Given the description of an element on the screen output the (x, y) to click on. 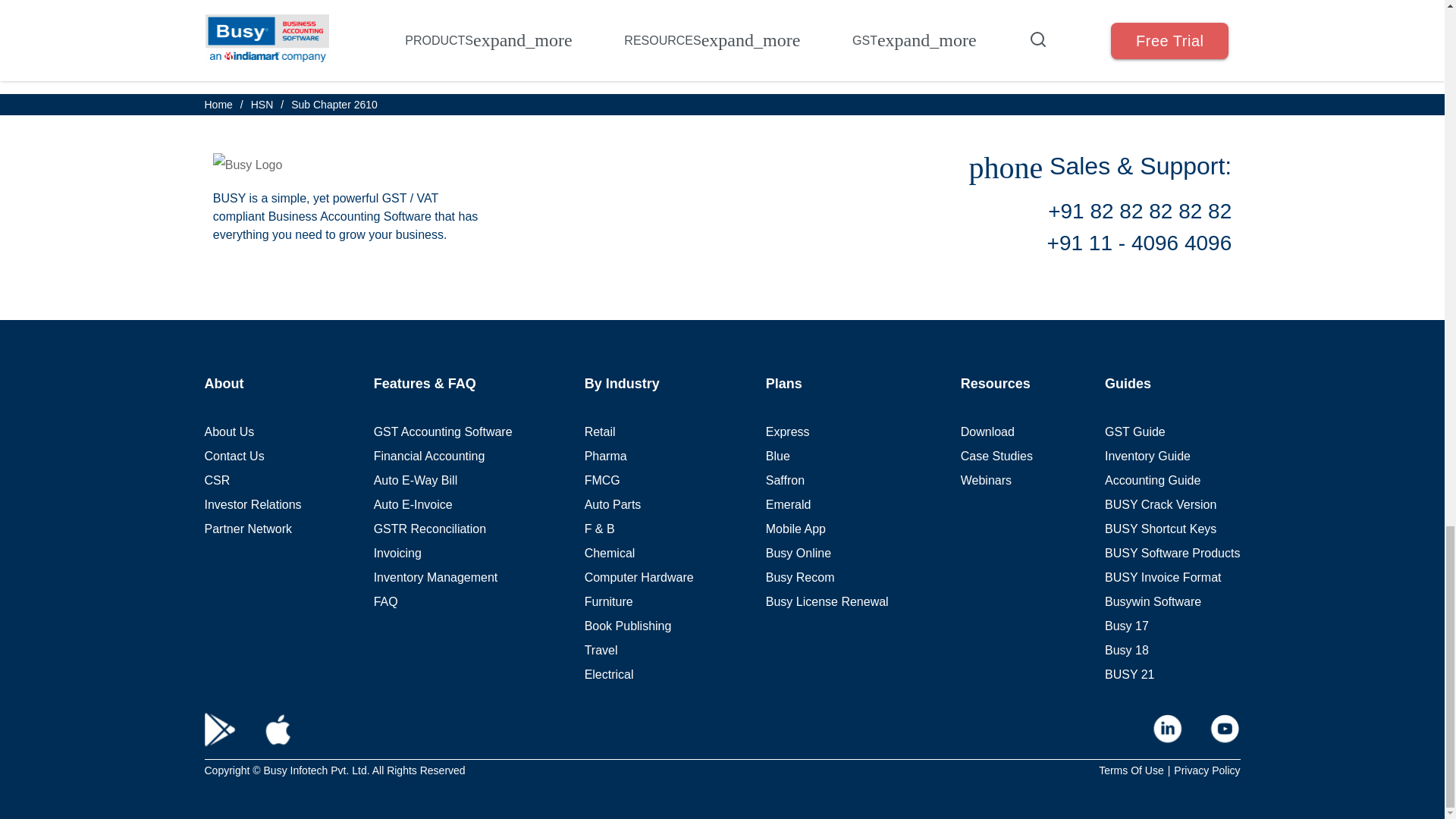
Busy Logo (247, 165)
